Given the description of an element on the screen output the (x, y) to click on. 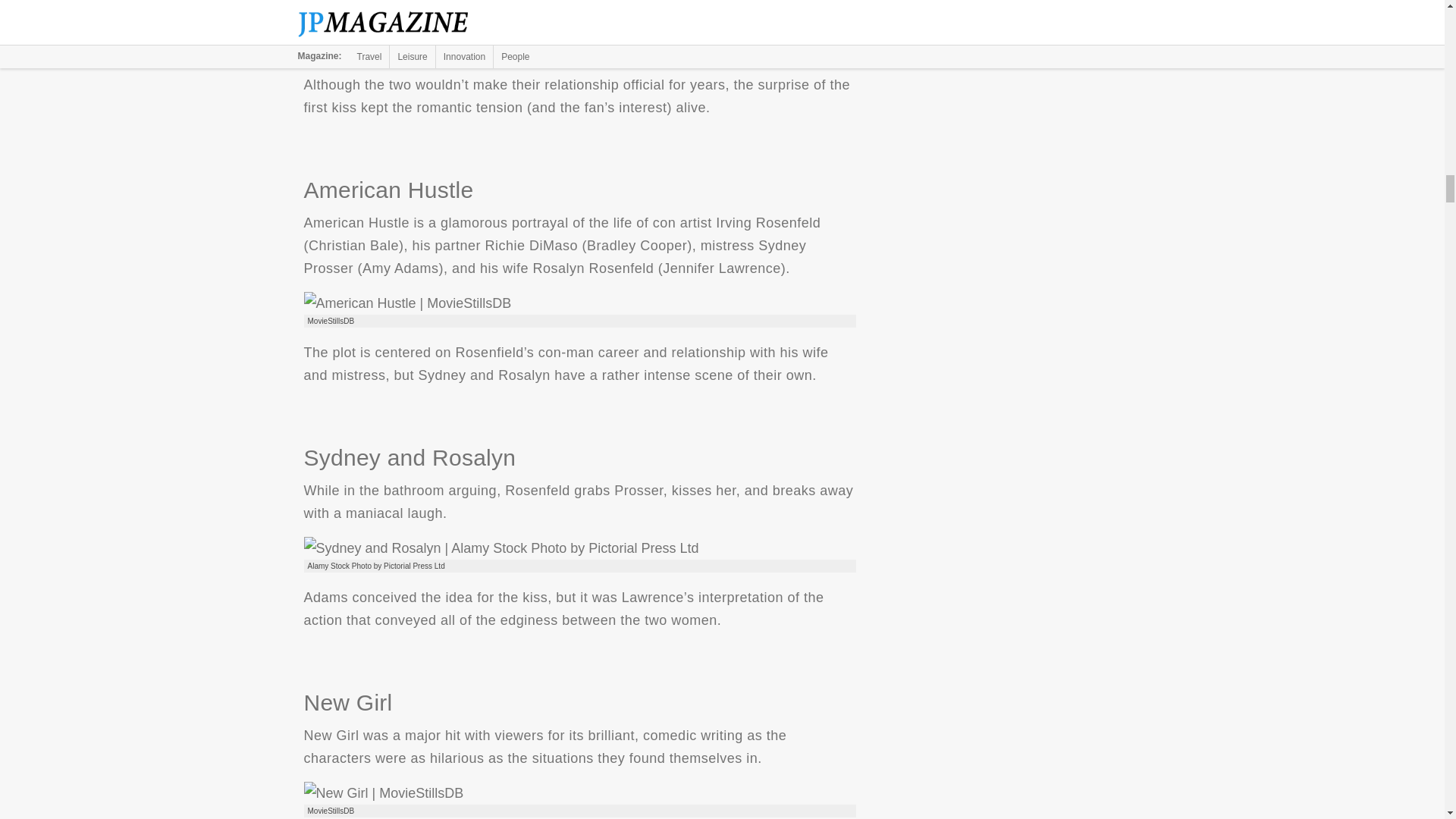
Fox and Scully (401, 35)
New Girl (382, 793)
American Hustle (406, 302)
Sydney and Rosalyn (500, 548)
